Given the description of an element on the screen output the (x, y) to click on. 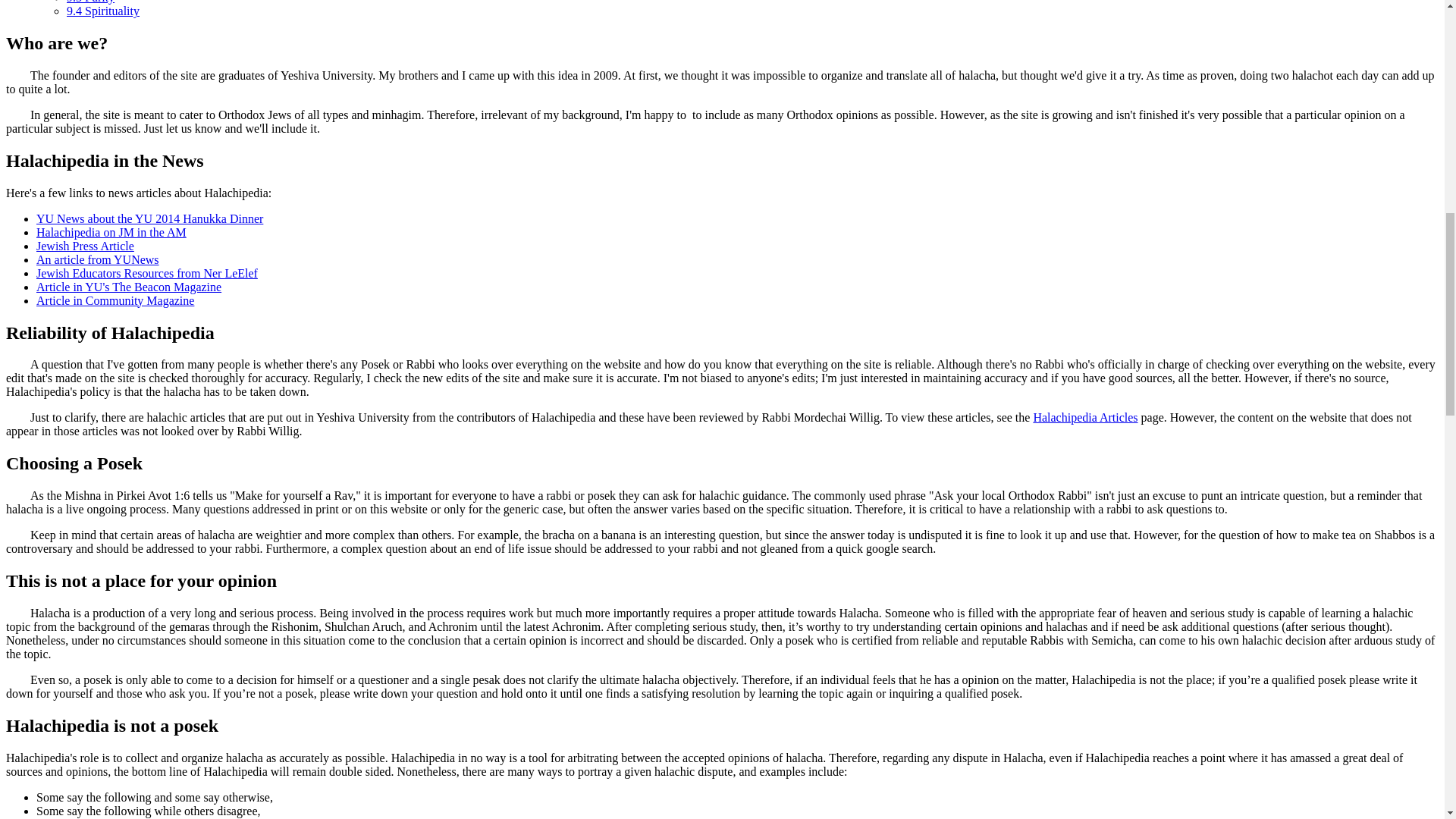
Halachipedia on JM in the AM (111, 232)
9.3 Purity (90, 2)
9.4 Spirituality (102, 10)
An article from YUNews (97, 259)
Halachipedia Articles (1084, 417)
Jewish Educators Resources from Ner LeElef (146, 273)
YU News about the YU 2014 Hanukka Dinner (149, 218)
Article in YU's The Beacon Magazine (128, 286)
Article in Community Magazine (114, 300)
Halachipedia Articles (1084, 417)
Jewish Press Article (84, 245)
